Given the description of an element on the screen output the (x, y) to click on. 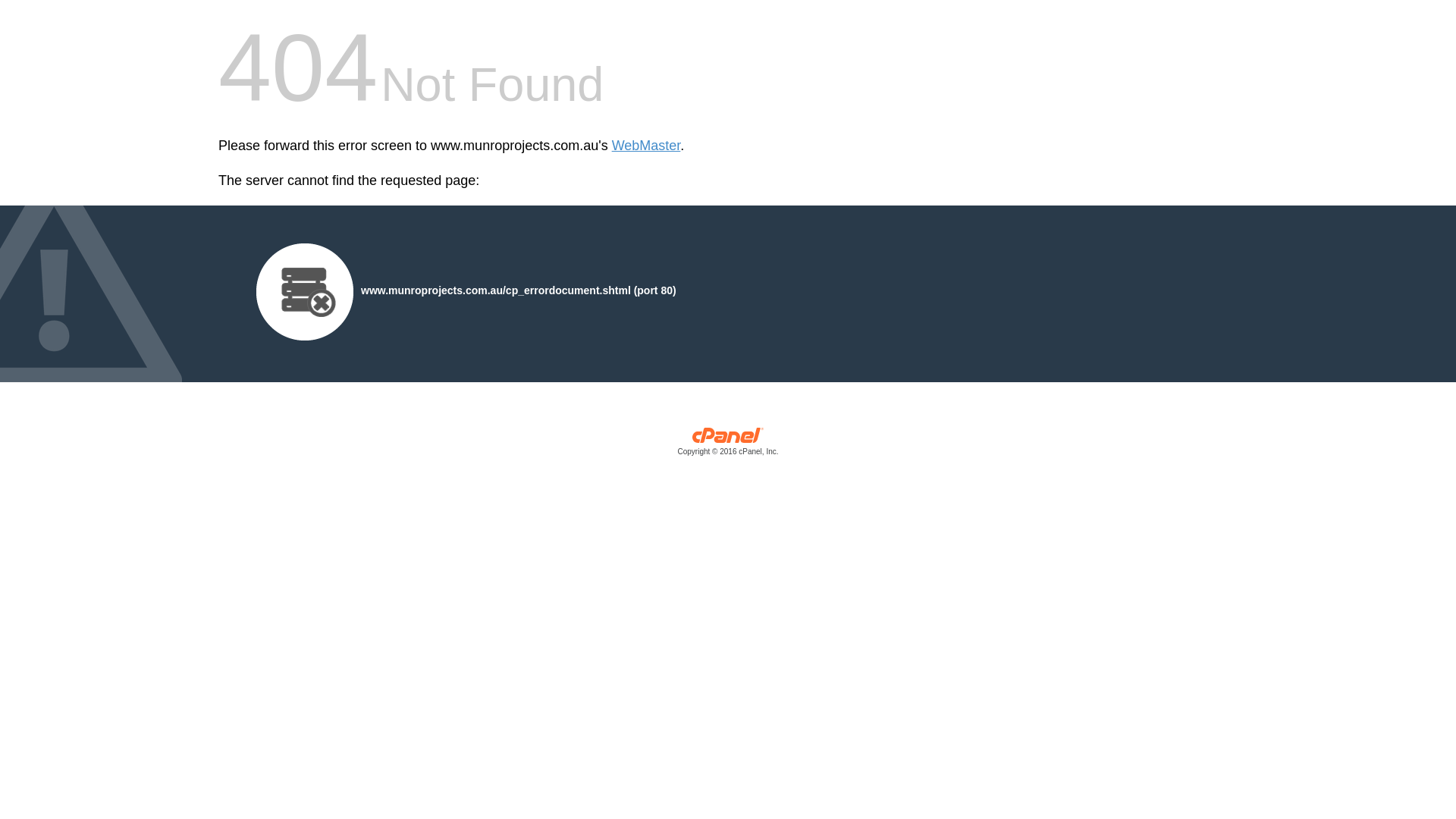
WebMaster Element type: text (645, 145)
